Given the description of an element on the screen output the (x, y) to click on. 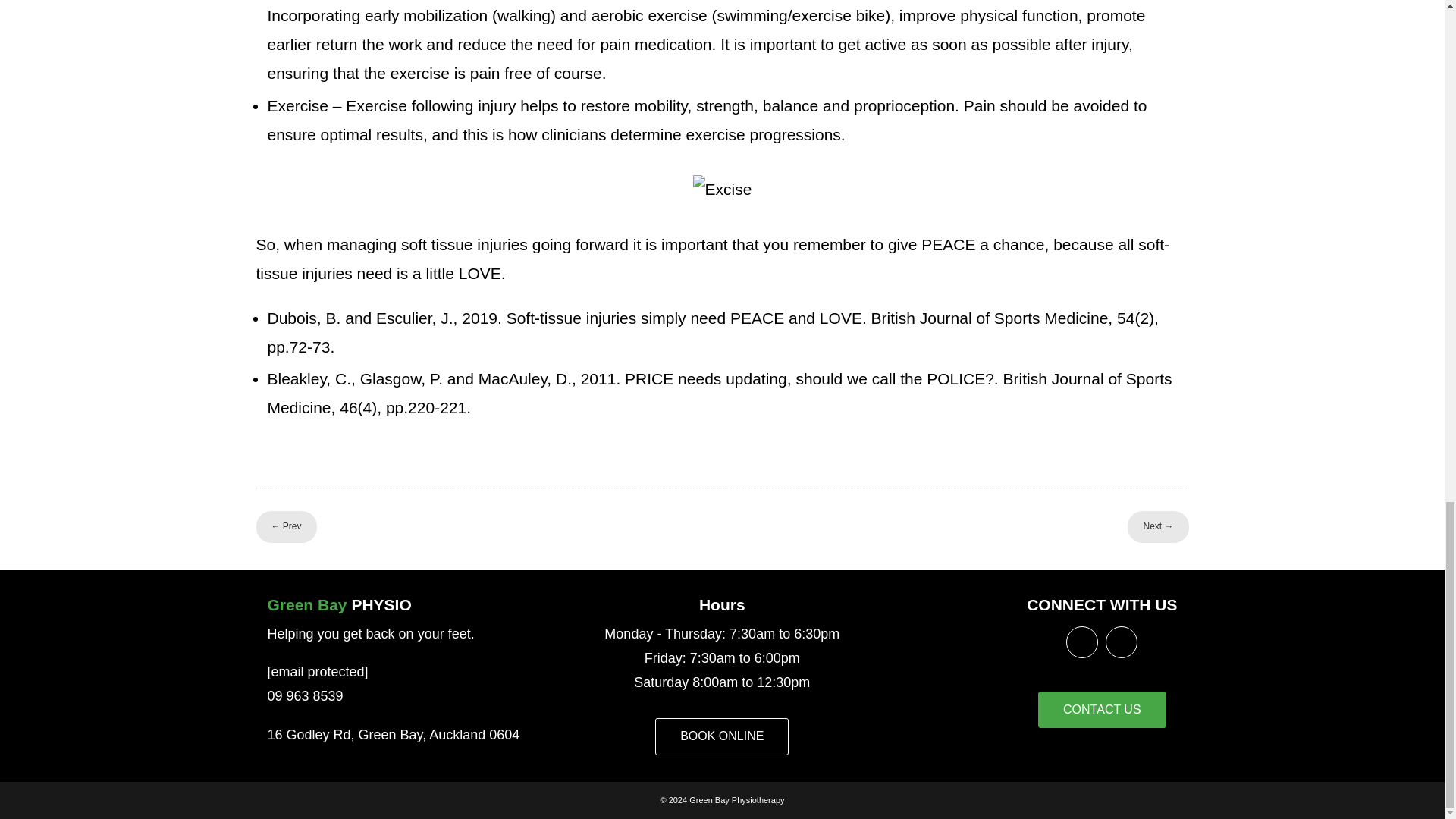
Follow us on Instagram (1121, 642)
09 963 8539 (304, 695)
Green Bay Physiotherapy (736, 799)
CONTACT US (1102, 709)
BOOK ONLINE (722, 736)
Excise (722, 189)
Follow us on Facebook (1082, 642)
